Given the description of an element on the screen output the (x, y) to click on. 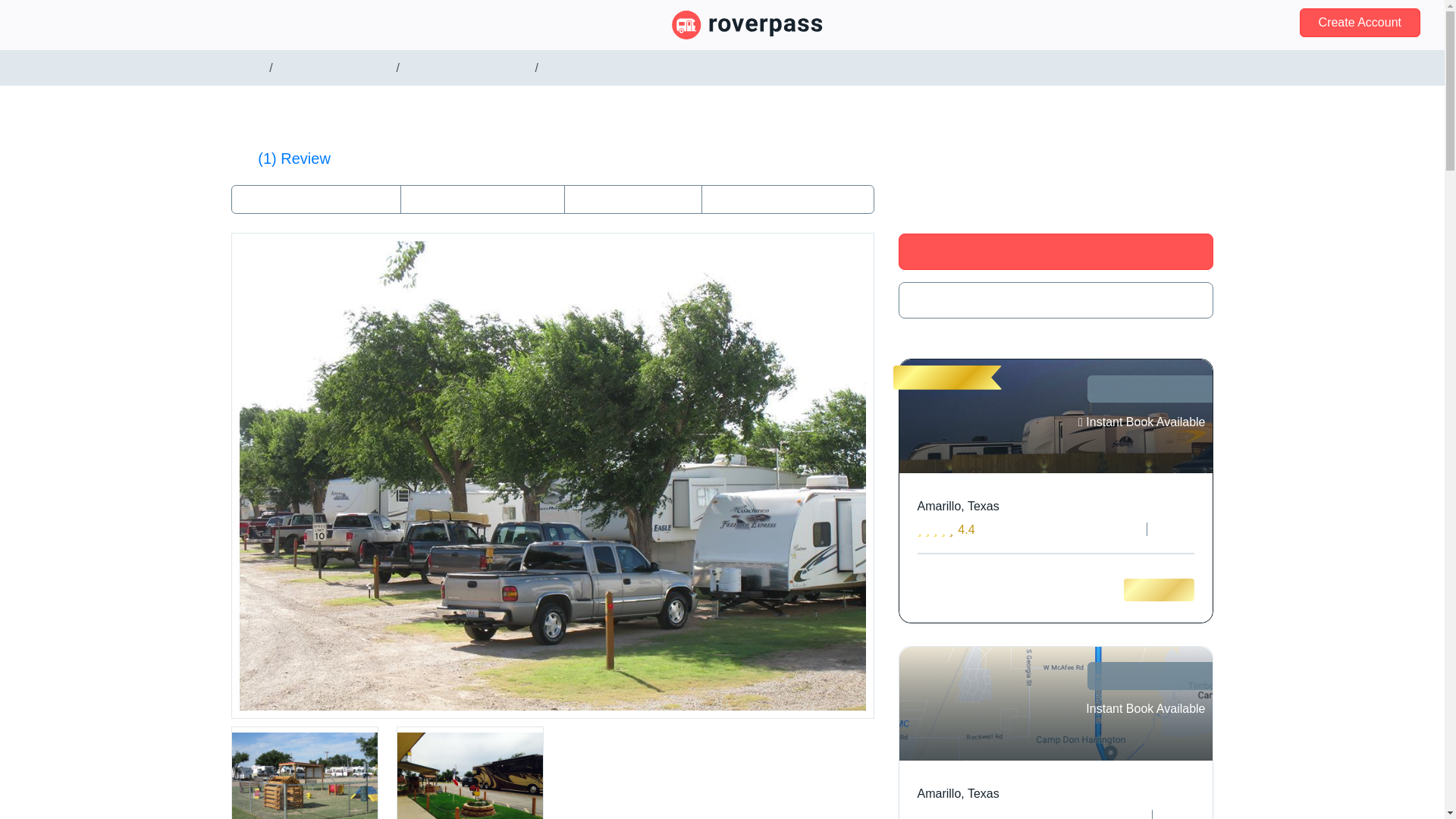
Overview (482, 199)
Texas Campgrounds (334, 67)
Traveler Log In (1209, 23)
Campground Management Solutions (338, 24)
Save to Favorites (1055, 299)
Instant Book Available (1141, 422)
Owner Log In (66, 24)
Instant Book Available (1141, 709)
Amarillo Campgrounds (467, 67)
Map (632, 199)
